Given the description of an element on the screen output the (x, y) to click on. 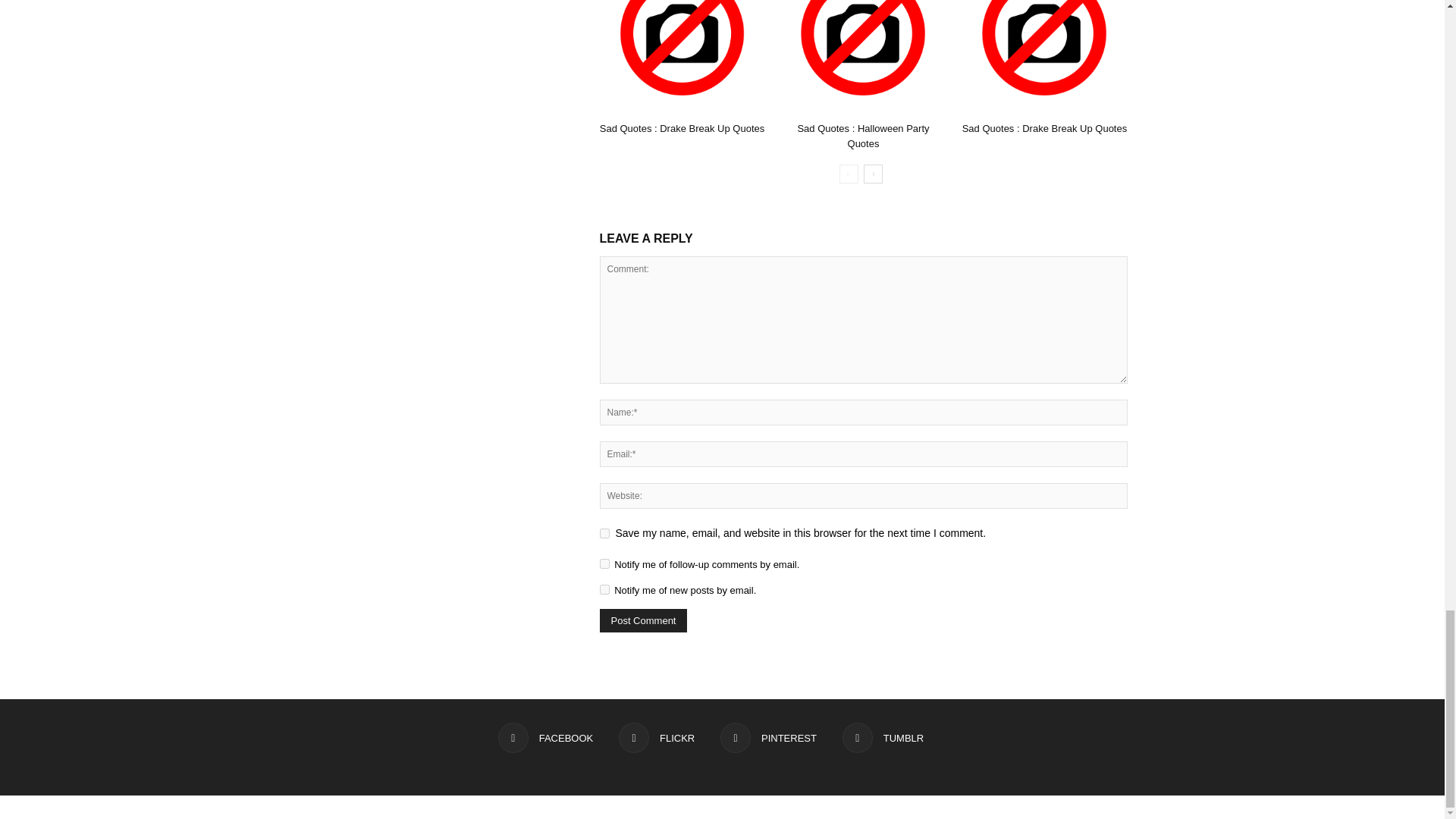
subscribe (603, 589)
subscribe (603, 563)
yes (603, 533)
Post Comment (642, 620)
